Given the description of an element on the screen output the (x, y) to click on. 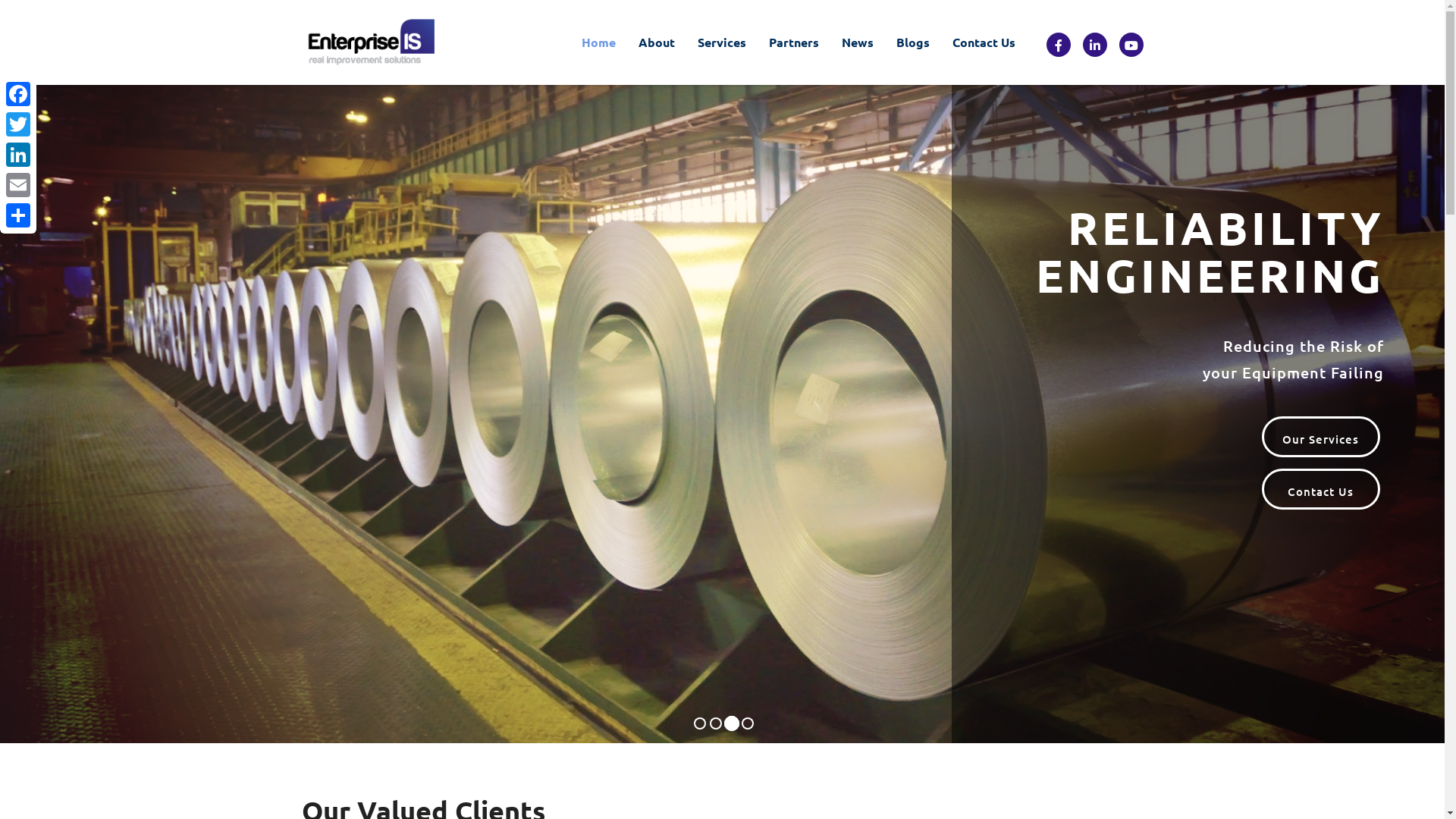
Share Element type: text (18, 215)
Twitter Element type: text (18, 124)
Contact Us Element type: text (983, 42)
Home Element type: text (598, 42)
  Element type: text (1131, 43)
News Element type: text (856, 42)
  Element type: text (1058, 43)
Facebook Element type: text (18, 93)
Services Element type: text (720, 42)
  Element type: text (1094, 43)
Partners Element type: text (792, 42)
LinkedIn Element type: text (18, 154)
Email Element type: text (18, 184)
Blogs Element type: text (912, 42)
About Element type: text (655, 42)
